Given the description of an element on the screen output the (x, y) to click on. 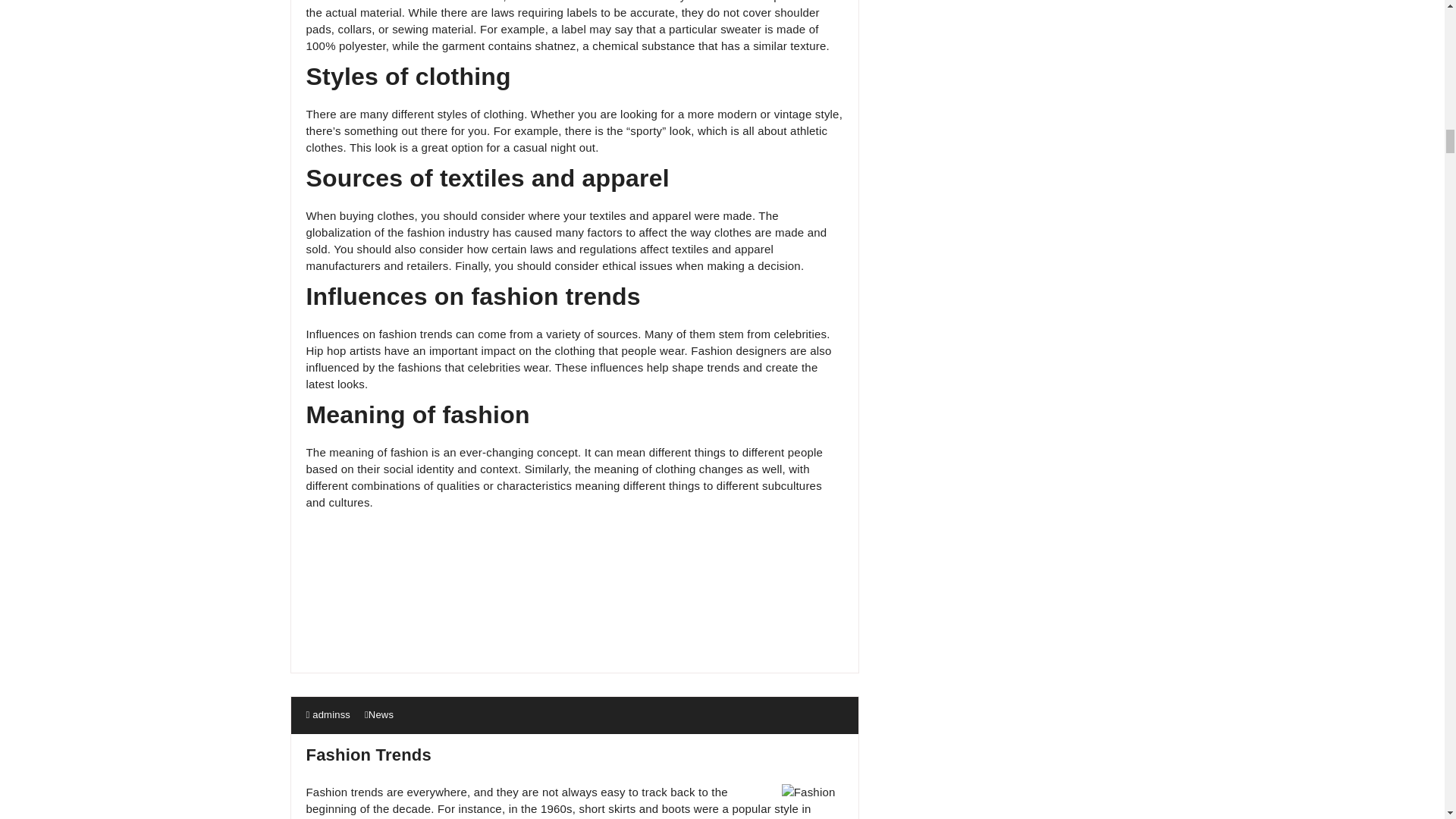
adminss (327, 714)
Fashion Trends (367, 754)
News (380, 714)
